Given the description of an element on the screen output the (x, y) to click on. 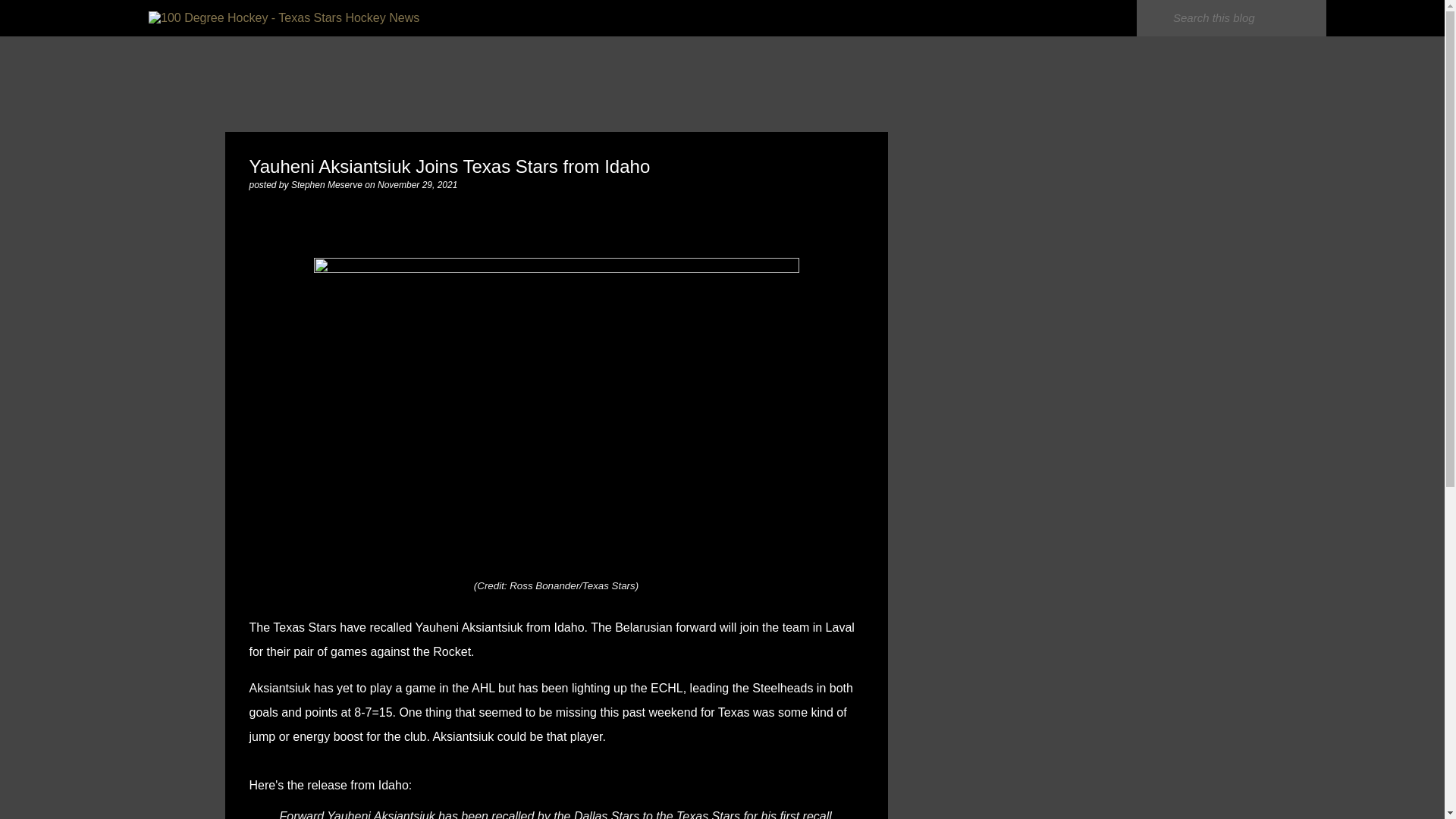
Stephen Meserve (328, 184)
November 29, 2021 (417, 184)
permanent link (417, 184)
author profile (328, 184)
